Given the description of an element on the screen output the (x, y) to click on. 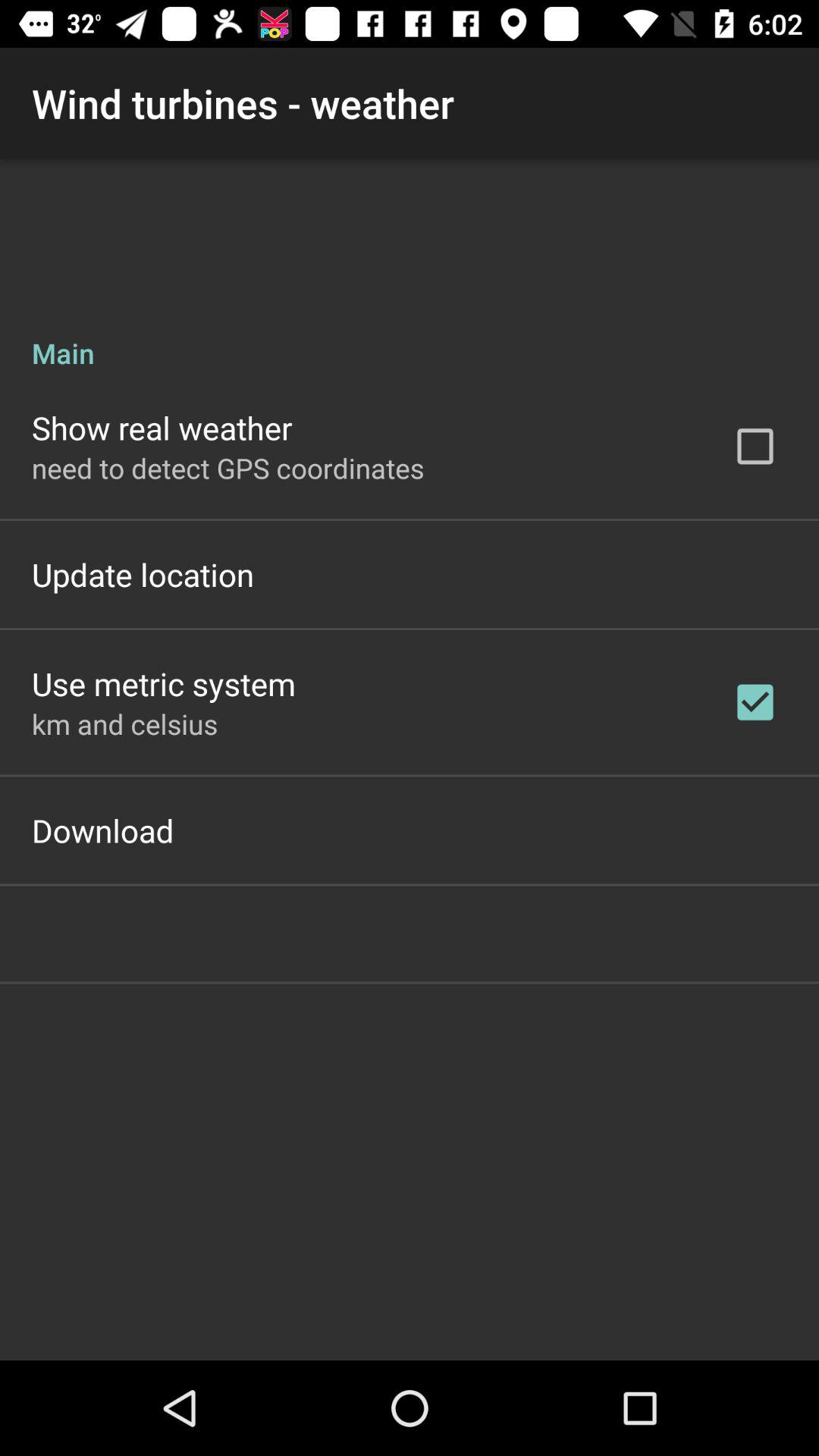
turn on the icon below the km and celsius (102, 829)
